Given the description of an element on the screen output the (x, y) to click on. 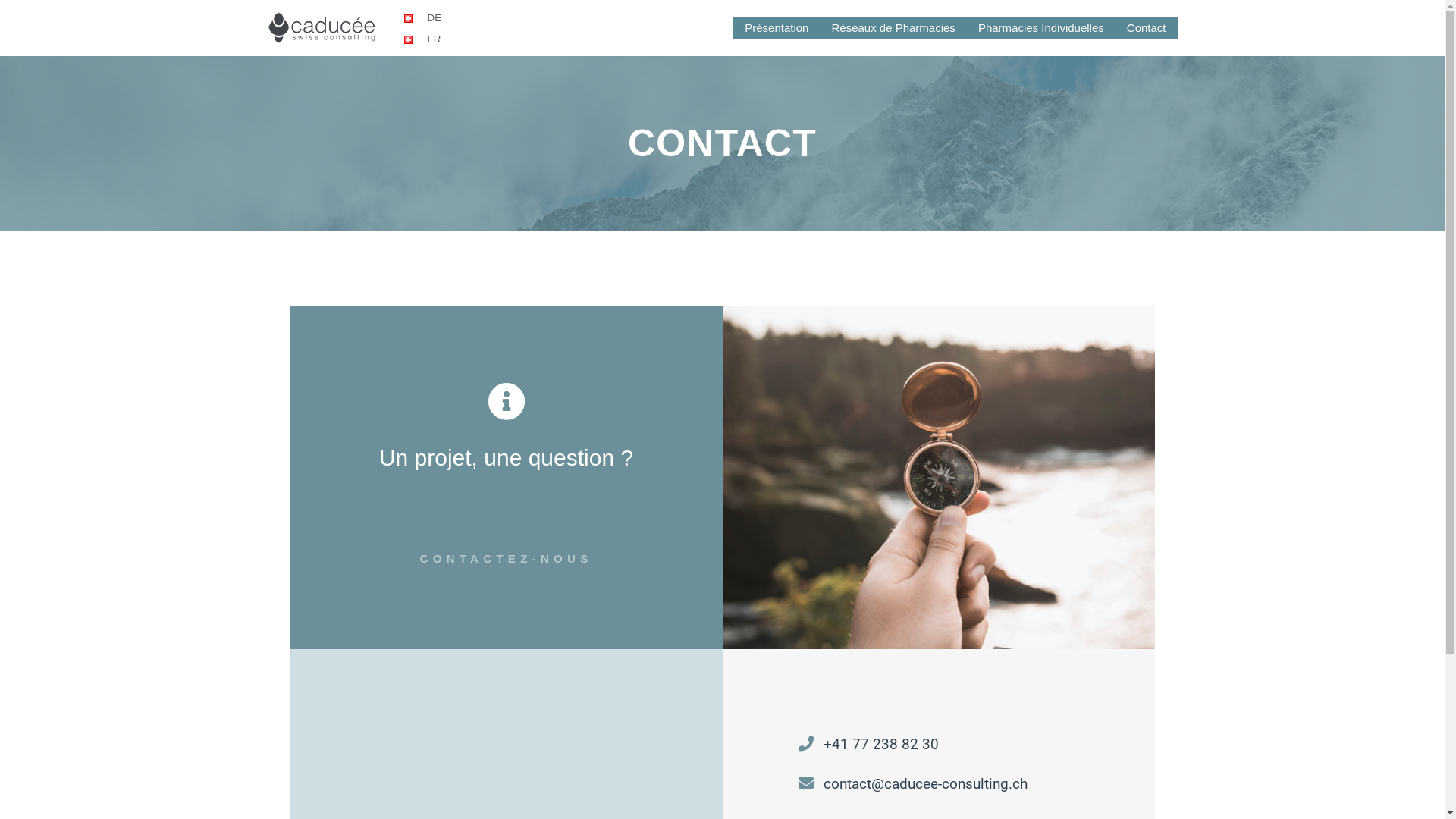
contact@caducee-consulting.ch Element type: text (937, 783)
Pharmacies Individuelles Element type: text (1040, 27)
+41 77 238 82 30 Element type: text (937, 743)
Contact Element type: text (1146, 27)
